Given the description of an element on the screen output the (x, y) to click on. 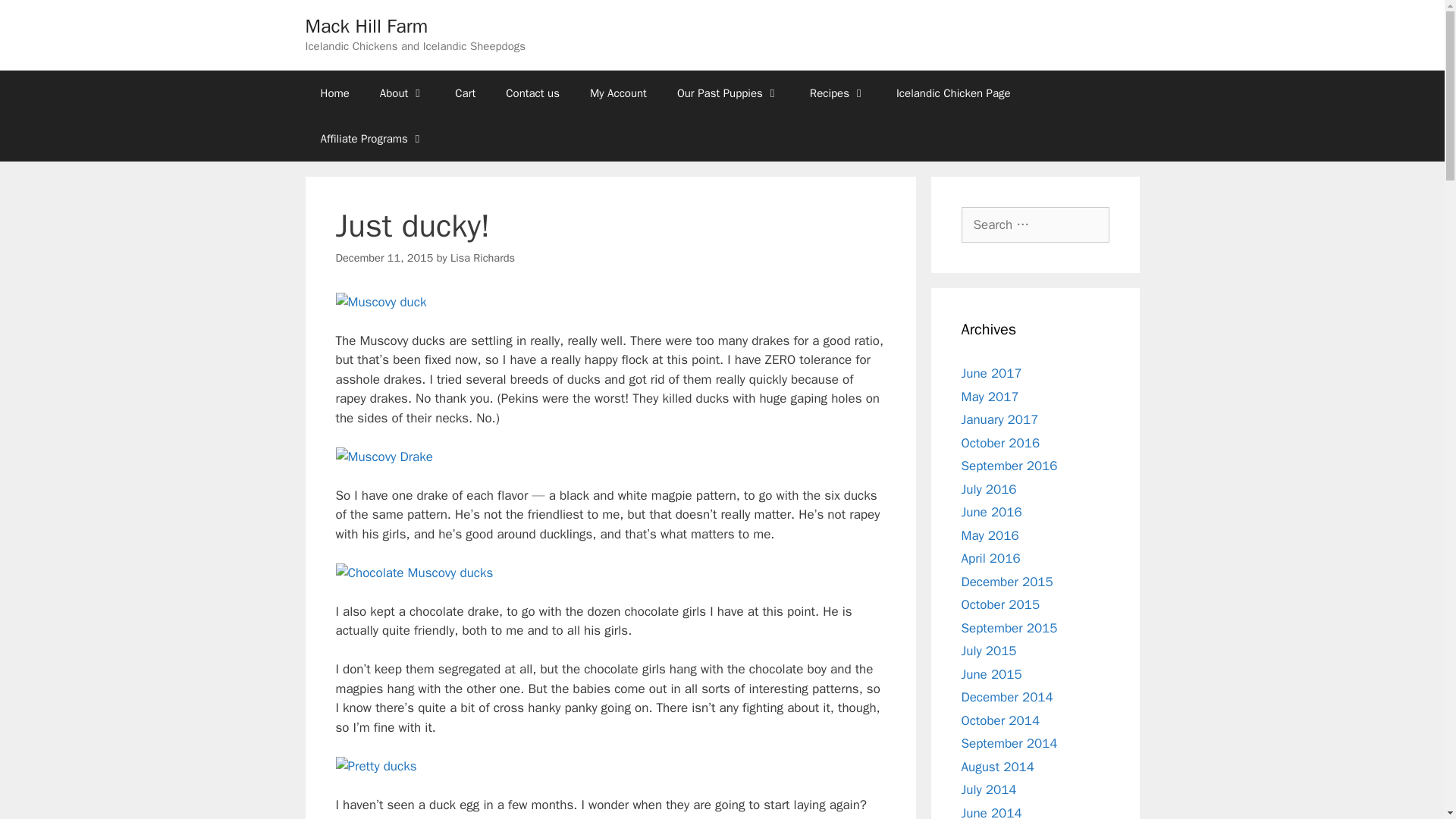
Chocolate Muscovy ducks (413, 572)
Pretty ducks (375, 765)
About (402, 92)
Muscovy Drake (383, 456)
Recipes (837, 92)
View all posts by Lisa Richards (482, 257)
Muscovy duck (380, 302)
Cart (464, 92)
Search for: (1034, 224)
Home (334, 92)
